Given the description of an element on the screen output the (x, y) to click on. 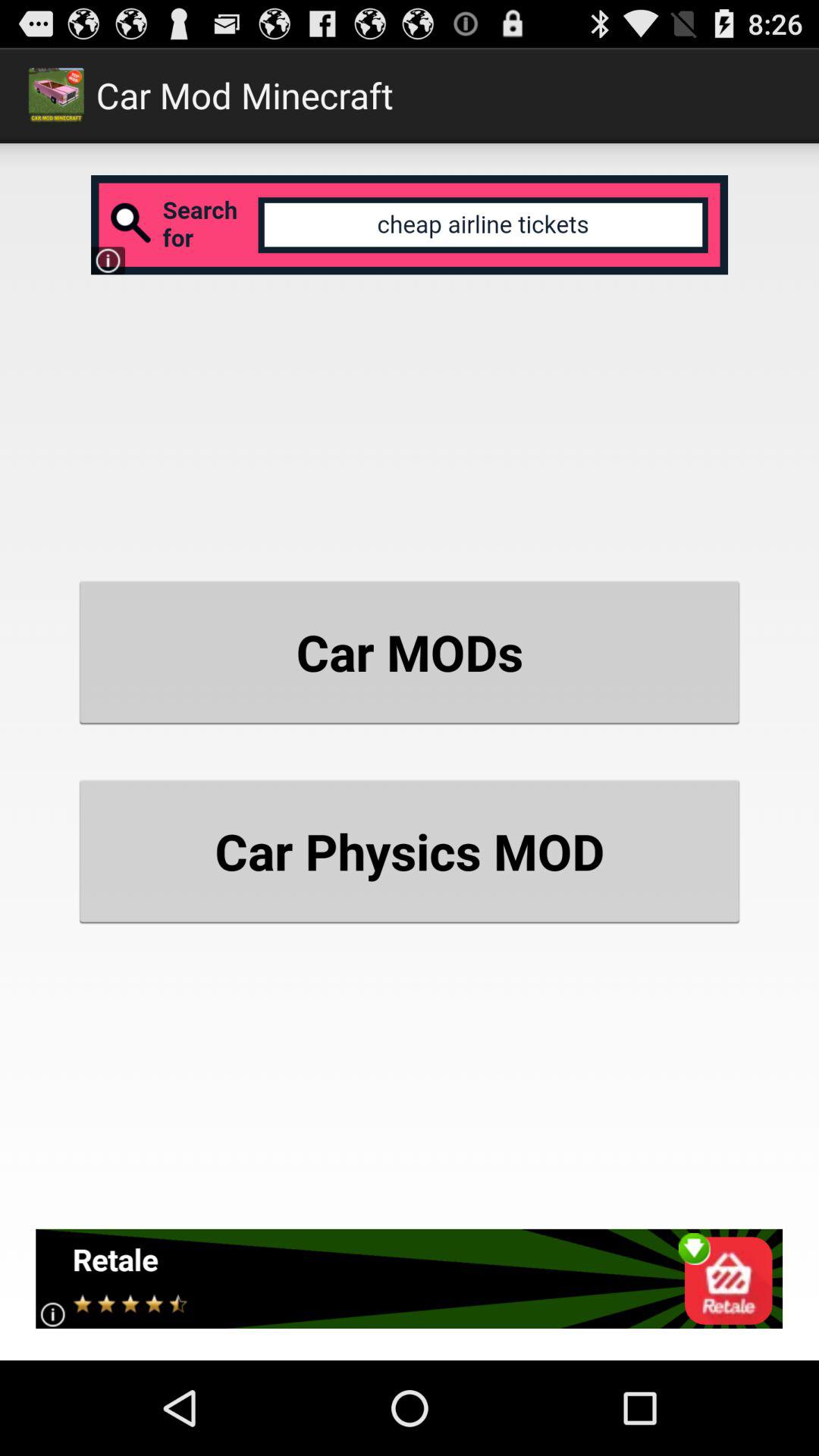
flip until car mods (409, 651)
